Given the description of an element on the screen output the (x, y) to click on. 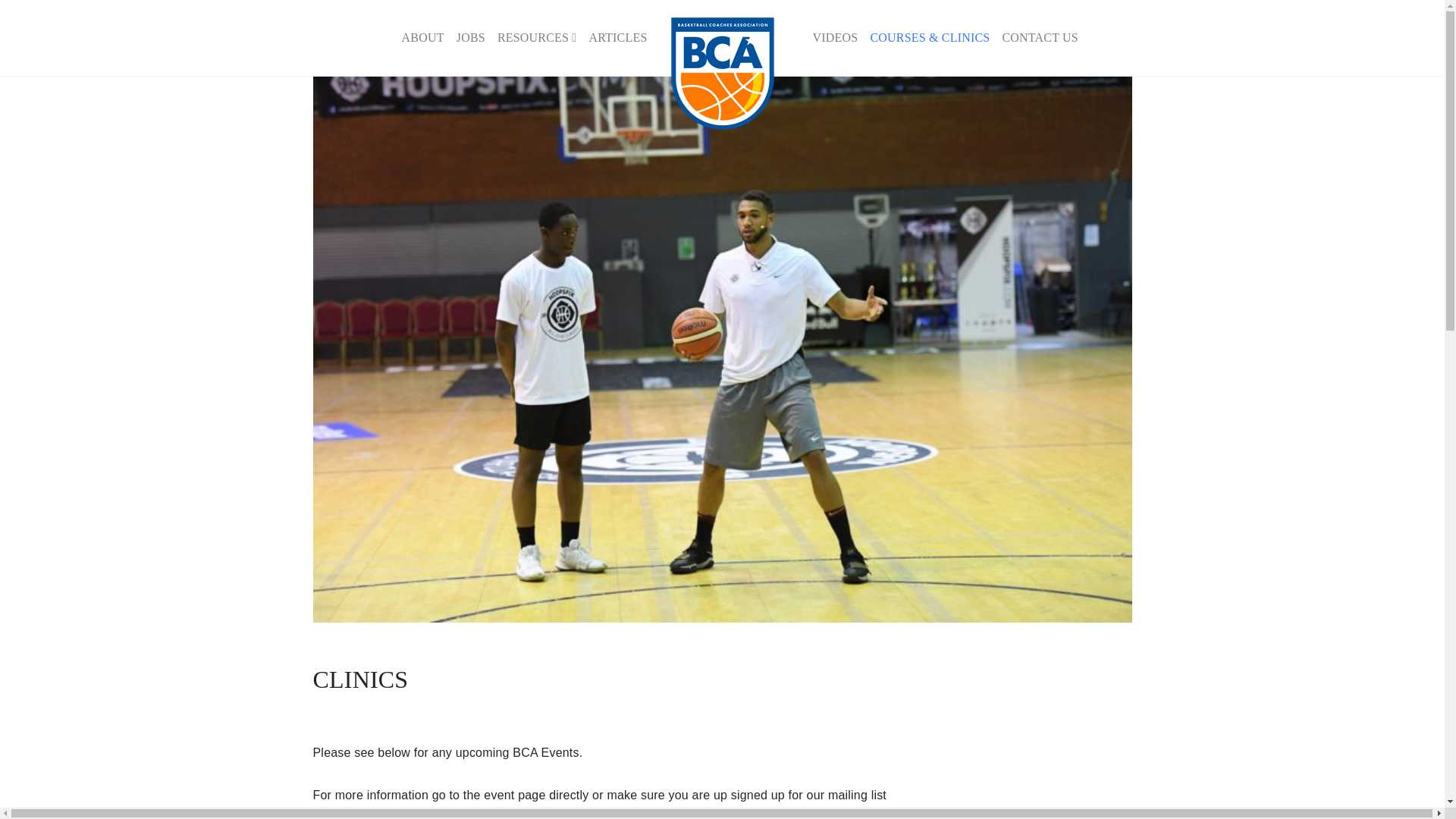
Resources (537, 38)
RESOURCES (537, 38)
CONTACT US (1039, 38)
Articles (617, 38)
ARTICLES (617, 38)
Contact Us (1039, 38)
